Given the description of an element on the screen output the (x, y) to click on. 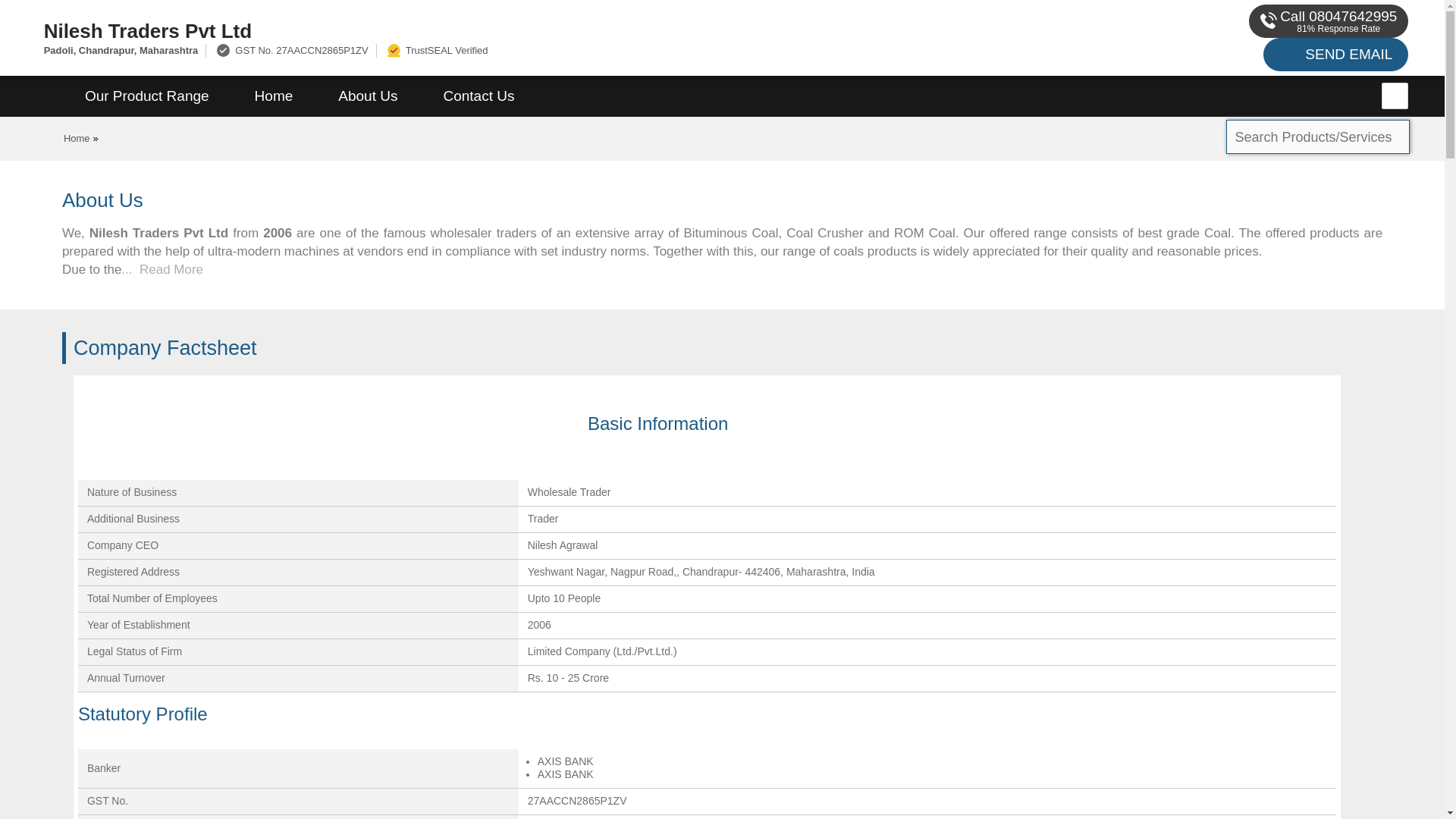
About Us (367, 96)
Contact Us (478, 96)
Home (273, 96)
Our Product Range (146, 96)
Home (77, 138)
Nilesh Traders Pvt Ltd (480, 31)
